Given the description of an element on the screen output the (x, y) to click on. 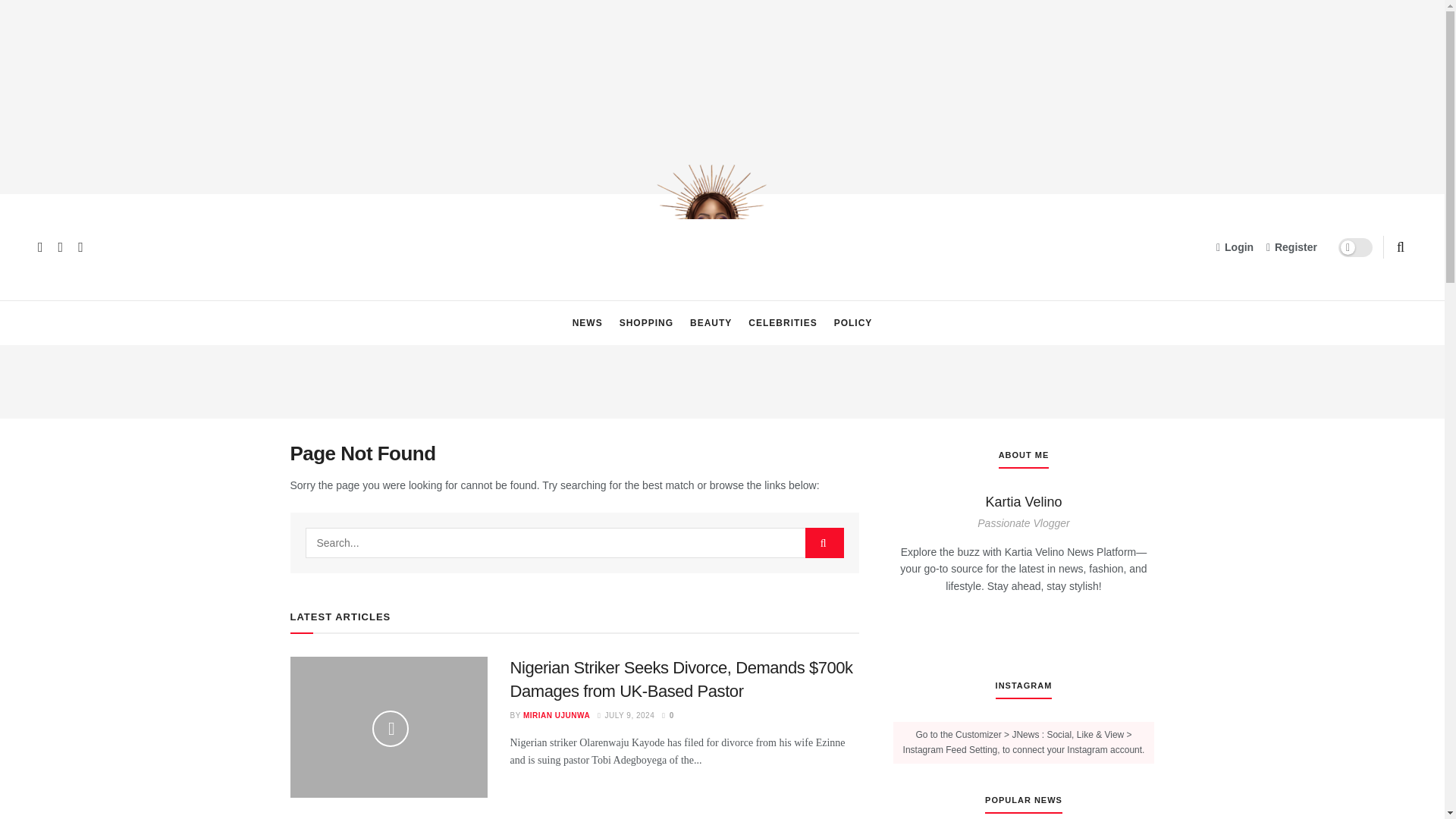
Login (1234, 247)
0 (668, 715)
MIRIAN UJUNWA (555, 715)
Advertisement (722, 378)
Register (1291, 247)
CELEBRITIES (782, 322)
SHOPPING (646, 322)
BEAUTY (711, 322)
JULY 9, 2024 (624, 715)
